Given the description of an element on the screen output the (x, y) to click on. 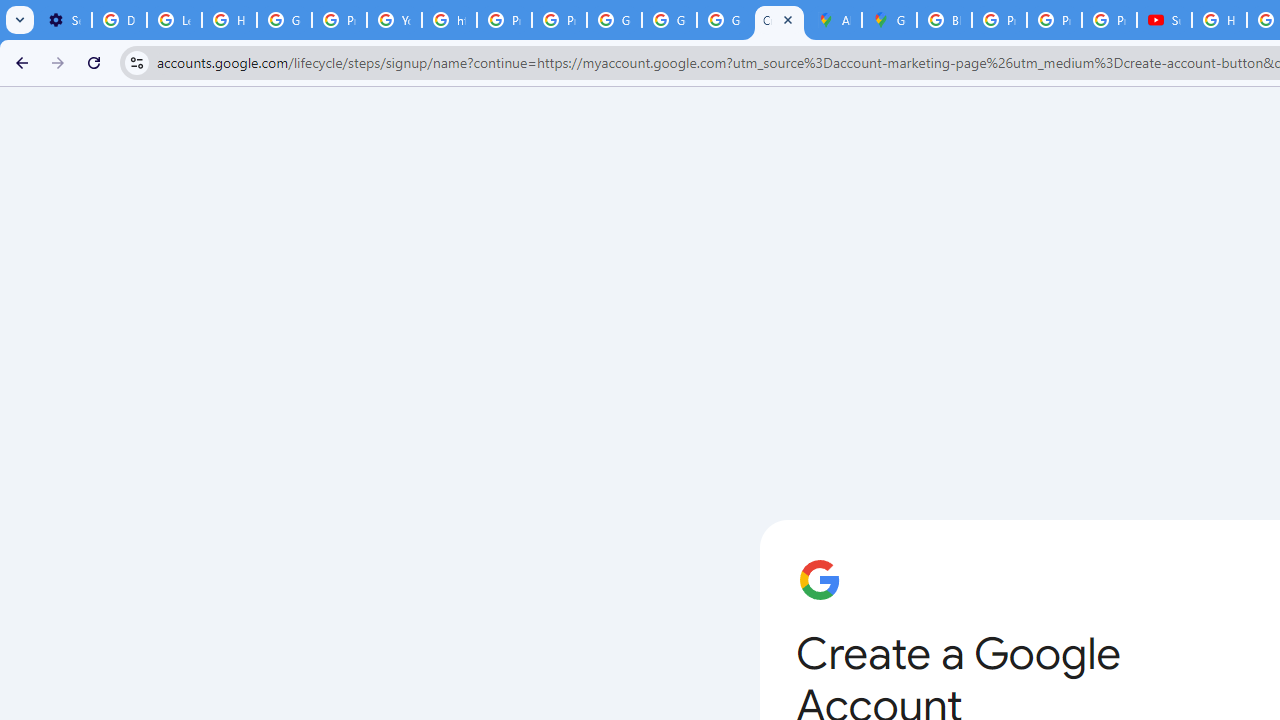
Privacy Help Center - Policies Help (1053, 20)
Privacy Help Center - Policies Help (504, 20)
https://scholar.google.com/ (449, 20)
Create your Google Account (779, 20)
How Chrome protects your passwords - Google Chrome Help (1218, 20)
Google Maps (888, 20)
